Given the description of an element on the screen output the (x, y) to click on. 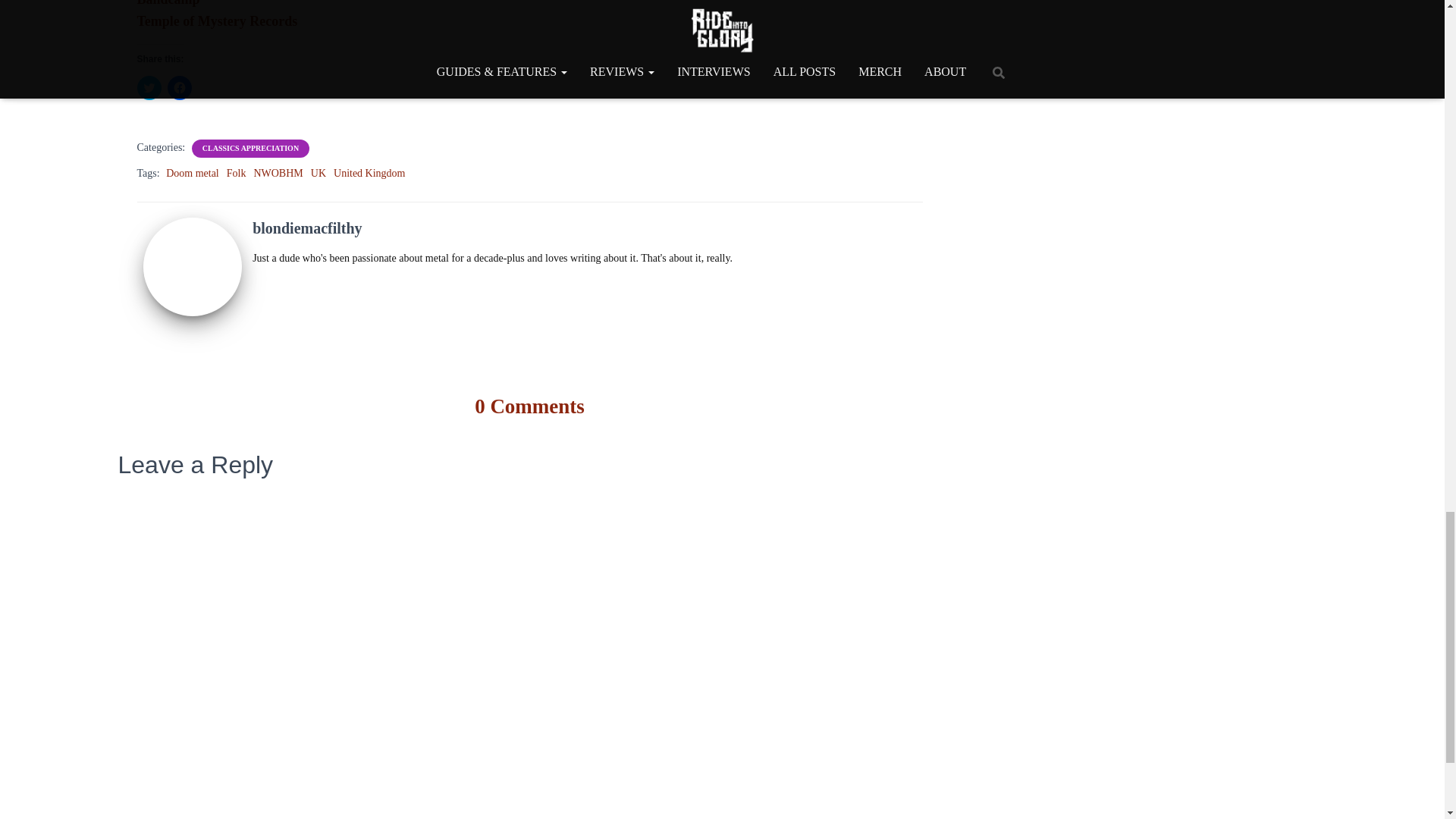
United Kingdom (369, 173)
CLASSICS APPRECIATION (249, 148)
NWOBHM (277, 173)
Bandcamp (167, 3)
Temple of Mystery Records (216, 20)
Doom metal (192, 173)
UK (318, 173)
Folk (236, 173)
